Given the description of an element on the screen output the (x, y) to click on. 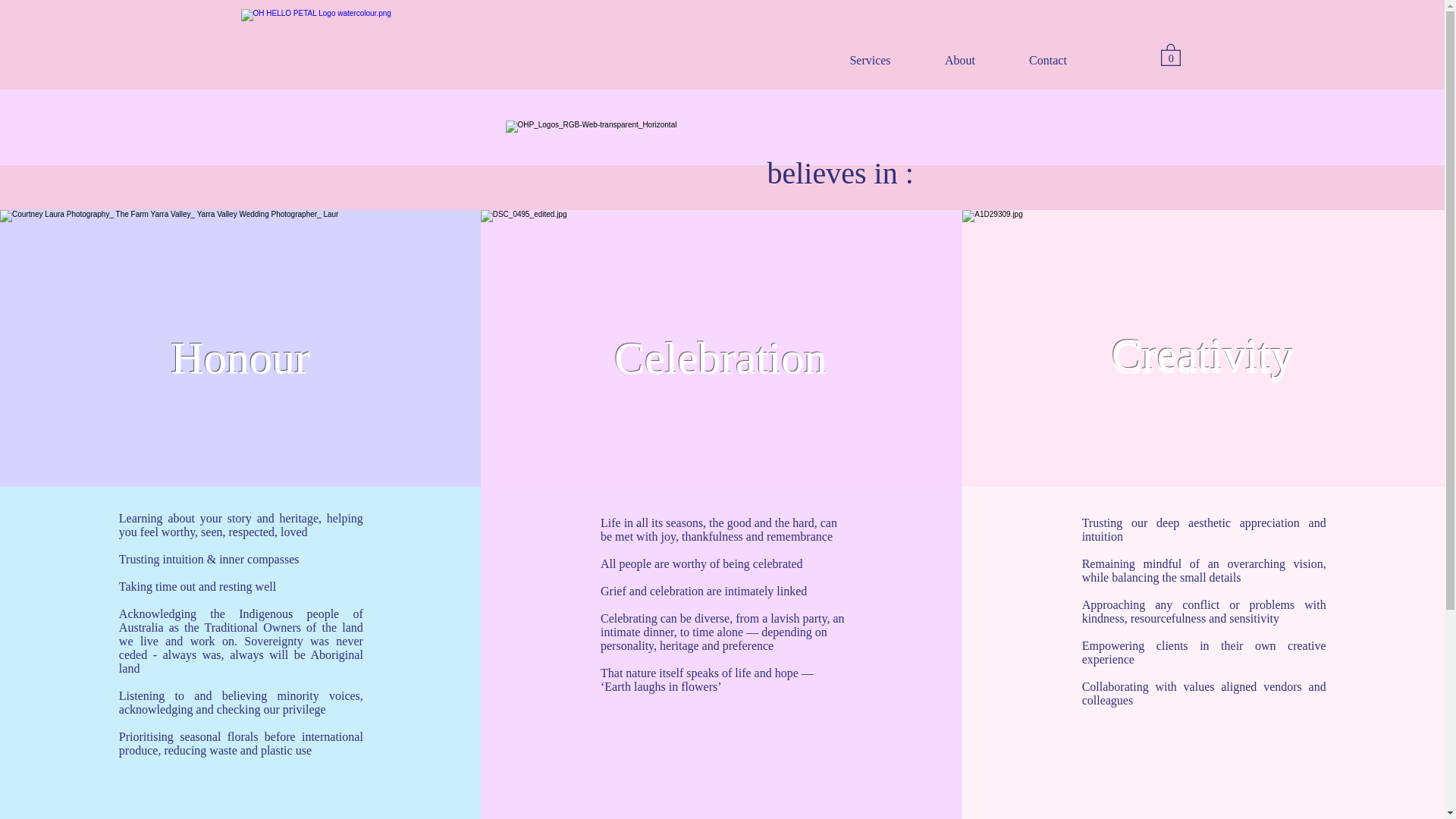
Services Element type: text (869, 58)
About Element type: text (959, 58)
0 Element type: text (1169, 53)
Contact Element type: text (1048, 58)
